Given the description of an element on the screen output the (x, y) to click on. 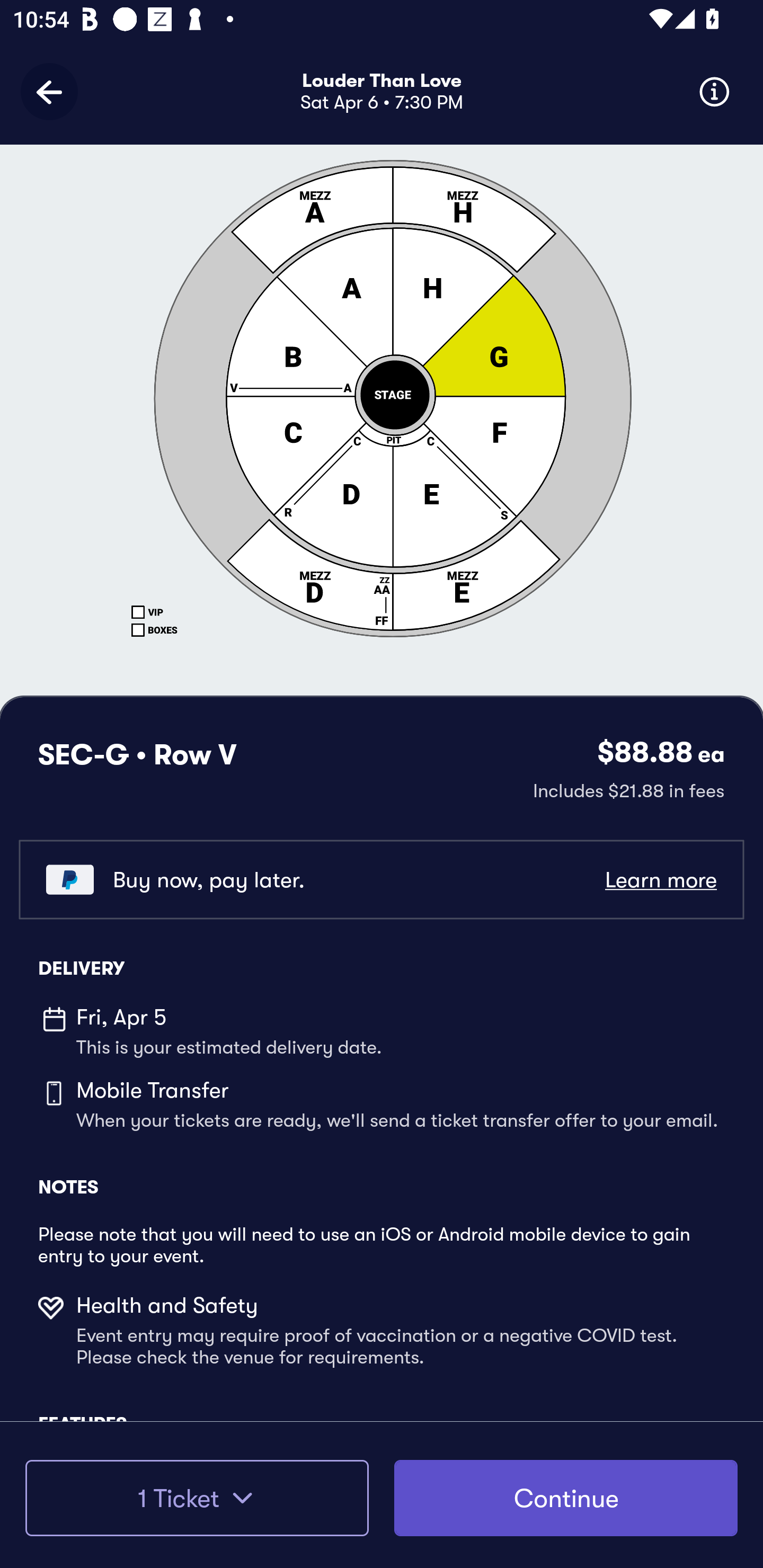
Learn more (660, 880)
1 Ticket (196, 1497)
Continue (565, 1497)
